Given the description of an element on the screen output the (x, y) to click on. 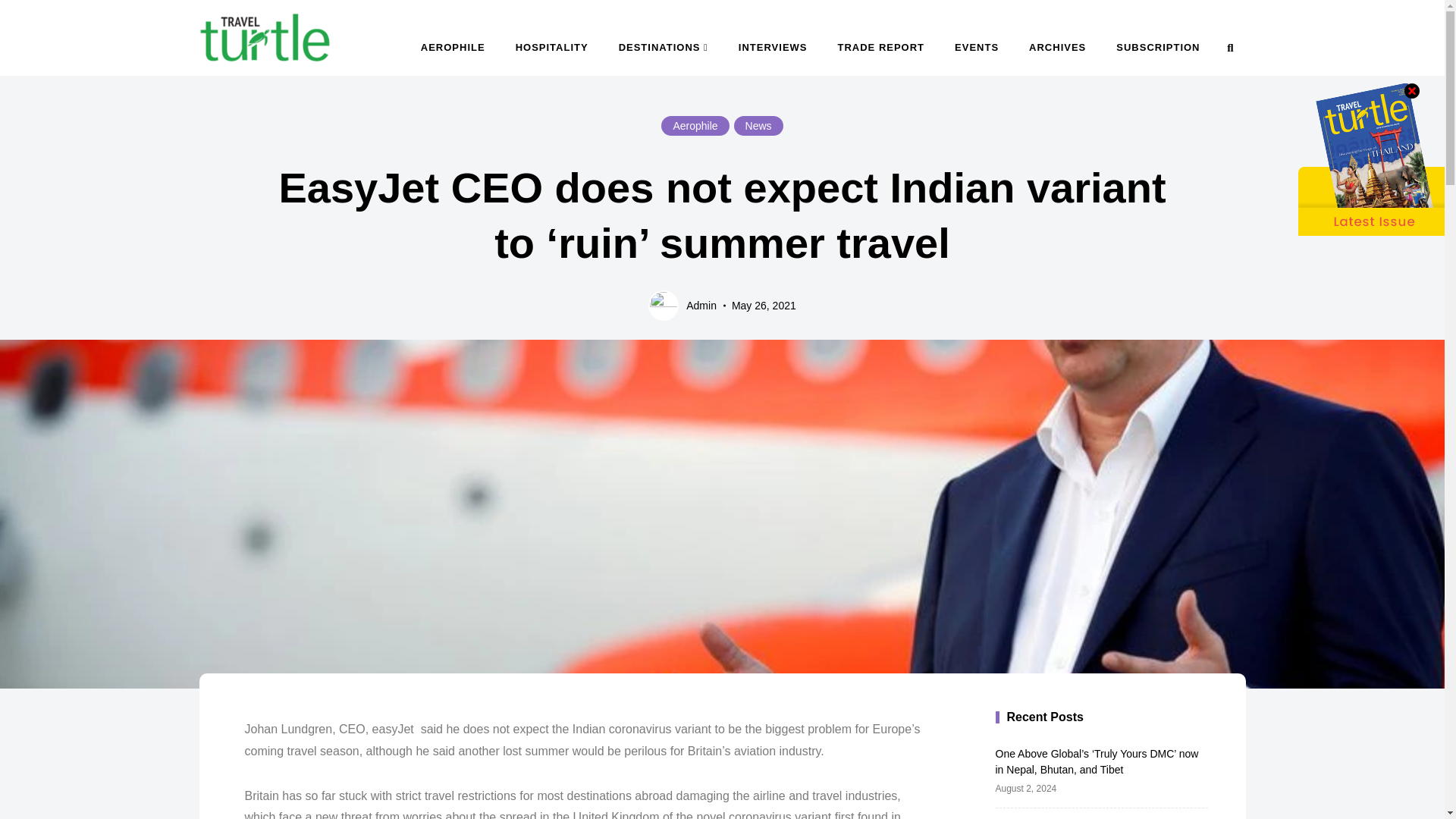
TRAVEL TURTLE (298, 77)
TRADE REPORT (880, 47)
HOSPITALITY (552, 47)
EVENTS (976, 47)
News (758, 125)
INTERVIEWS (772, 47)
AEROPHILE (453, 47)
Aerophile (695, 125)
DESTINATIONS (663, 47)
ARCHIVES (1056, 47)
May 26, 2021 (764, 305)
Admin (681, 305)
SUBSCRIPTION (1157, 47)
